Given the description of an element on the screen output the (x, y) to click on. 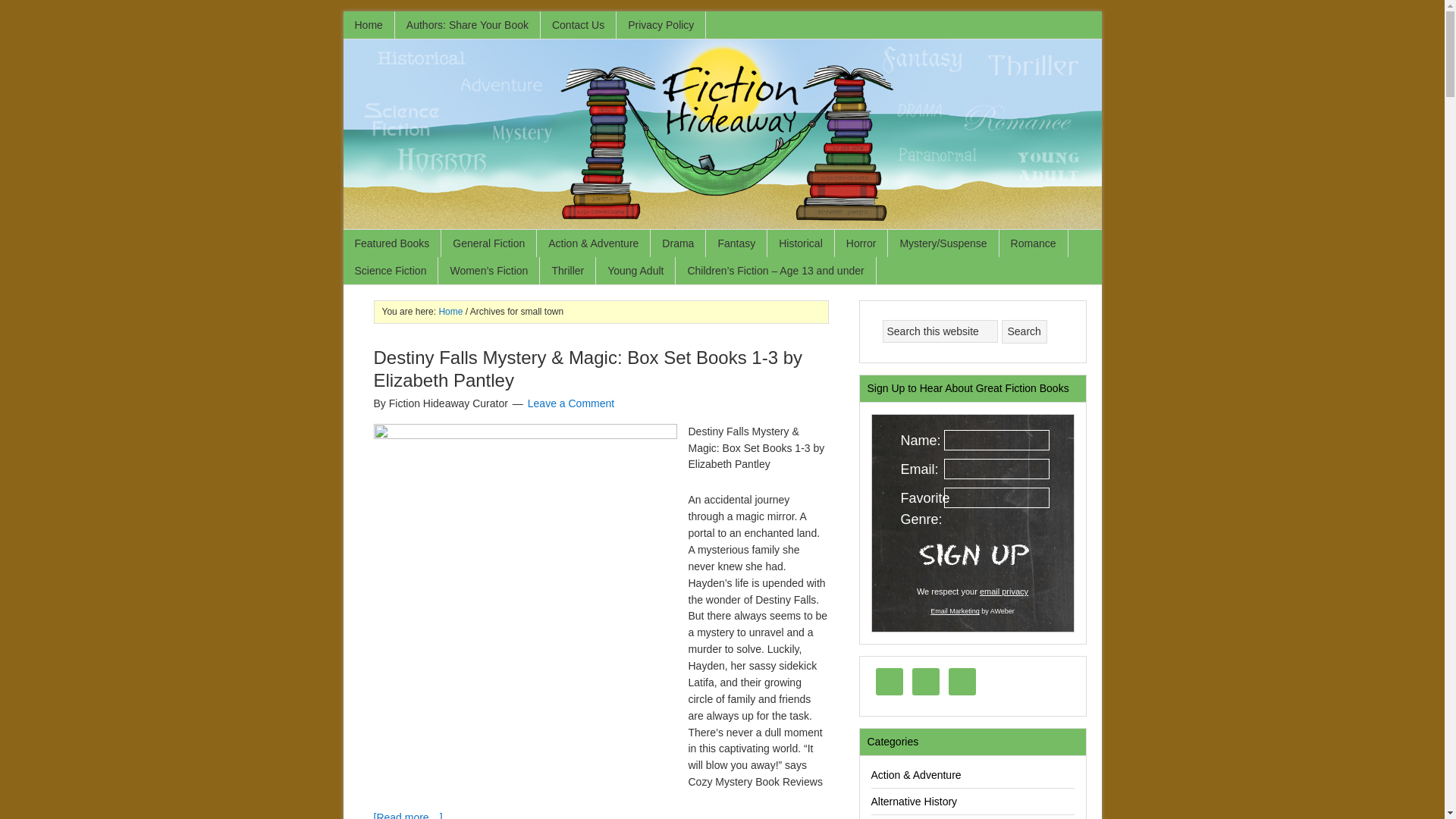
Contact Us (577, 24)
Historical (800, 243)
Science Fiction (390, 270)
Thriller (567, 270)
Romance (1033, 243)
Horror (861, 243)
Featured Books (391, 243)
Home (450, 311)
Young Adult (635, 270)
Search (1023, 331)
Drama (678, 243)
Privacy Policy (660, 24)
Leave a Comment (570, 403)
Home (368, 24)
